Given the description of an element on the screen output the (x, y) to click on. 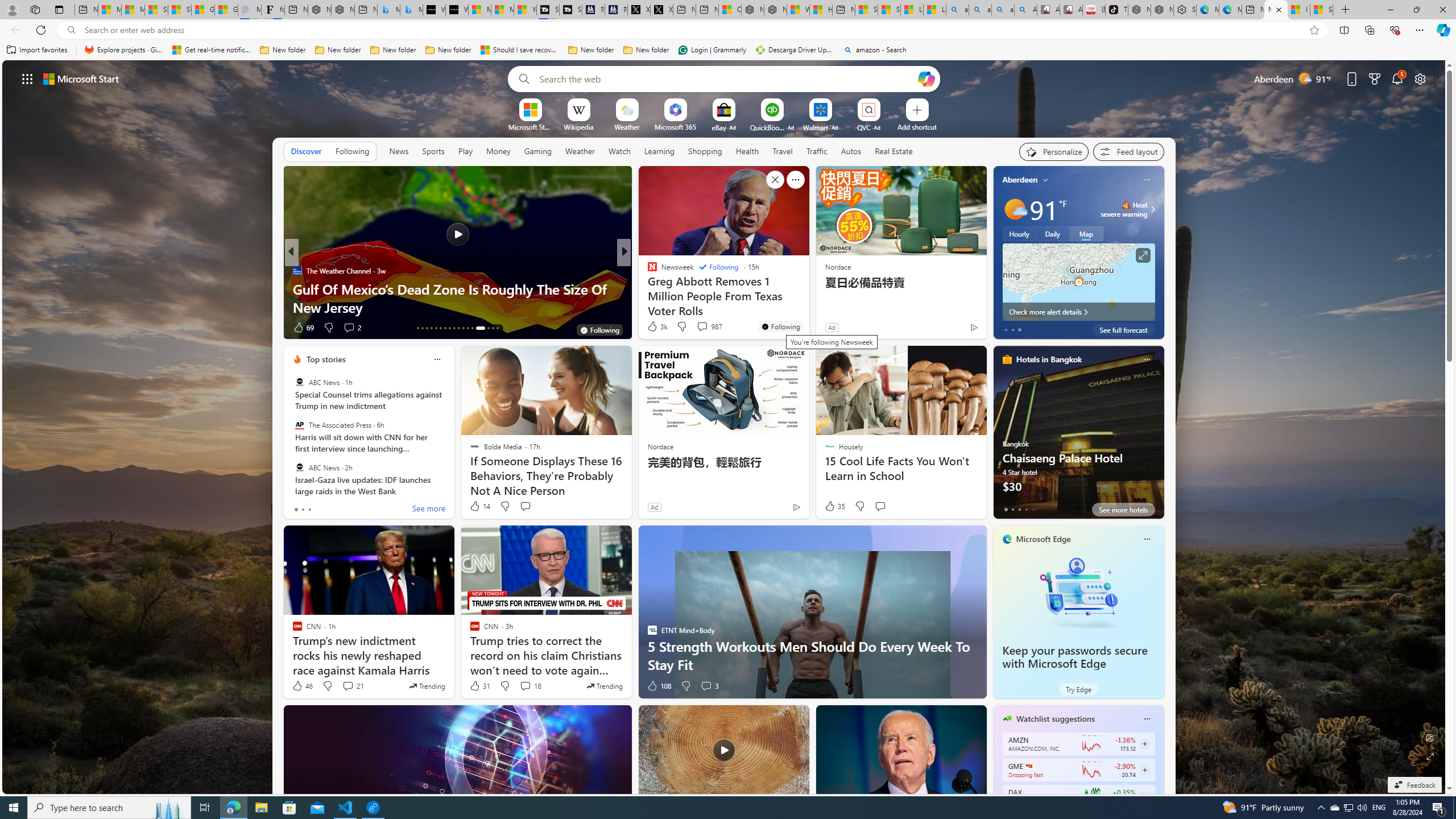
AutomationID: tab-27 (488, 328)
Click to see more information (1142, 255)
View comments 156 Comment (6, 327)
AutomationID: tab-26 (480, 328)
hotels-header-icon (1006, 358)
Microsoft rewards (1374, 78)
AutomationID: tab-19 (444, 328)
More options (1146, 718)
Keep your passwords secure with Microsoft Edge (1074, 657)
View comments 17 Comment (703, 327)
Following (352, 151)
108 Like (658, 685)
The Weather Channel (296, 270)
Real Estate (893, 151)
Microsoft Bing Travel - Shangri-La Hotel Bangkok (411, 9)
